Given the description of an element on the screen output the (x, y) to click on. 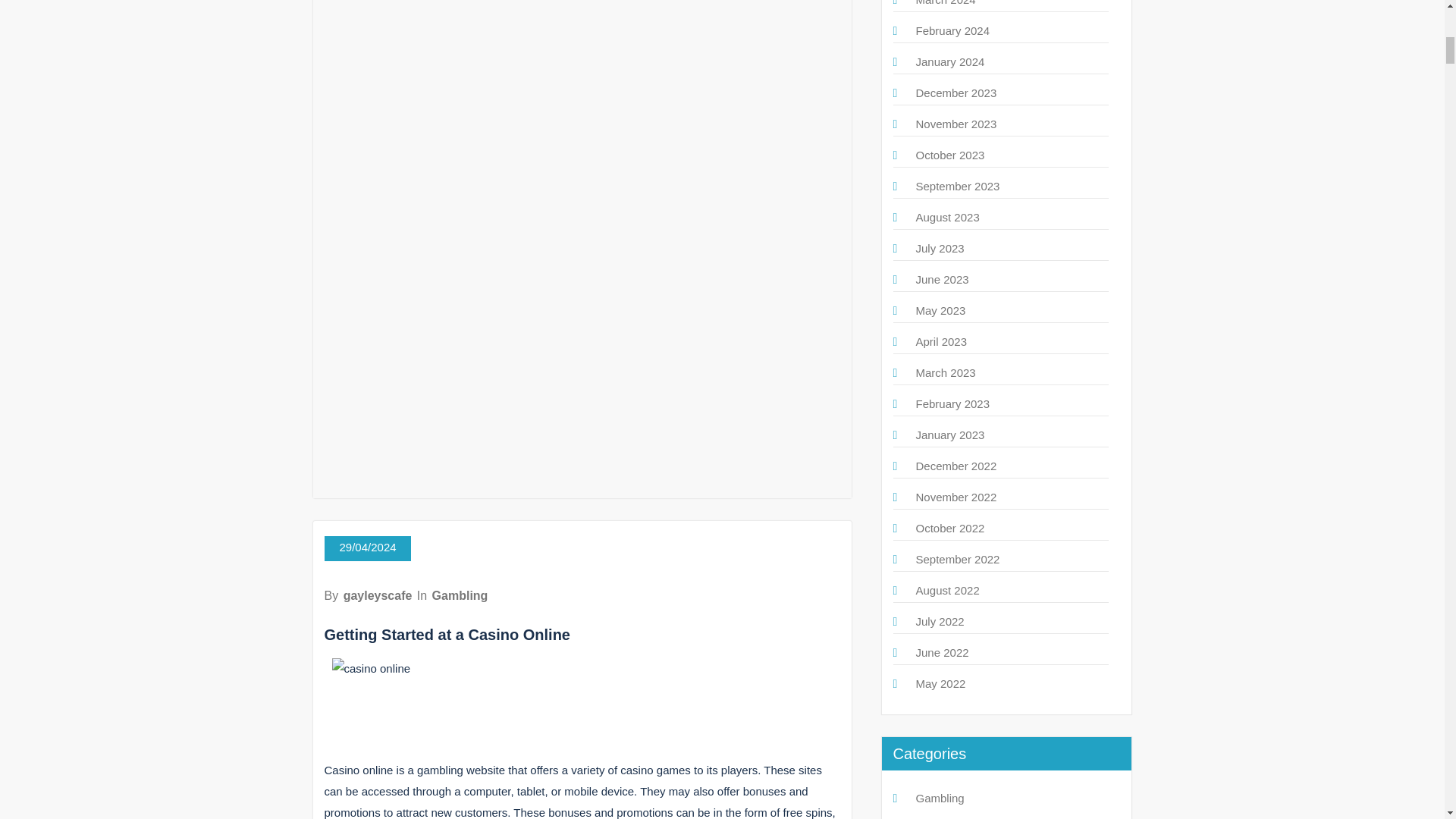
Gambling (459, 594)
gayleyscafe (377, 594)
Getting Started at a Casino Online (447, 634)
